Given the description of an element on the screen output the (x, y) to click on. 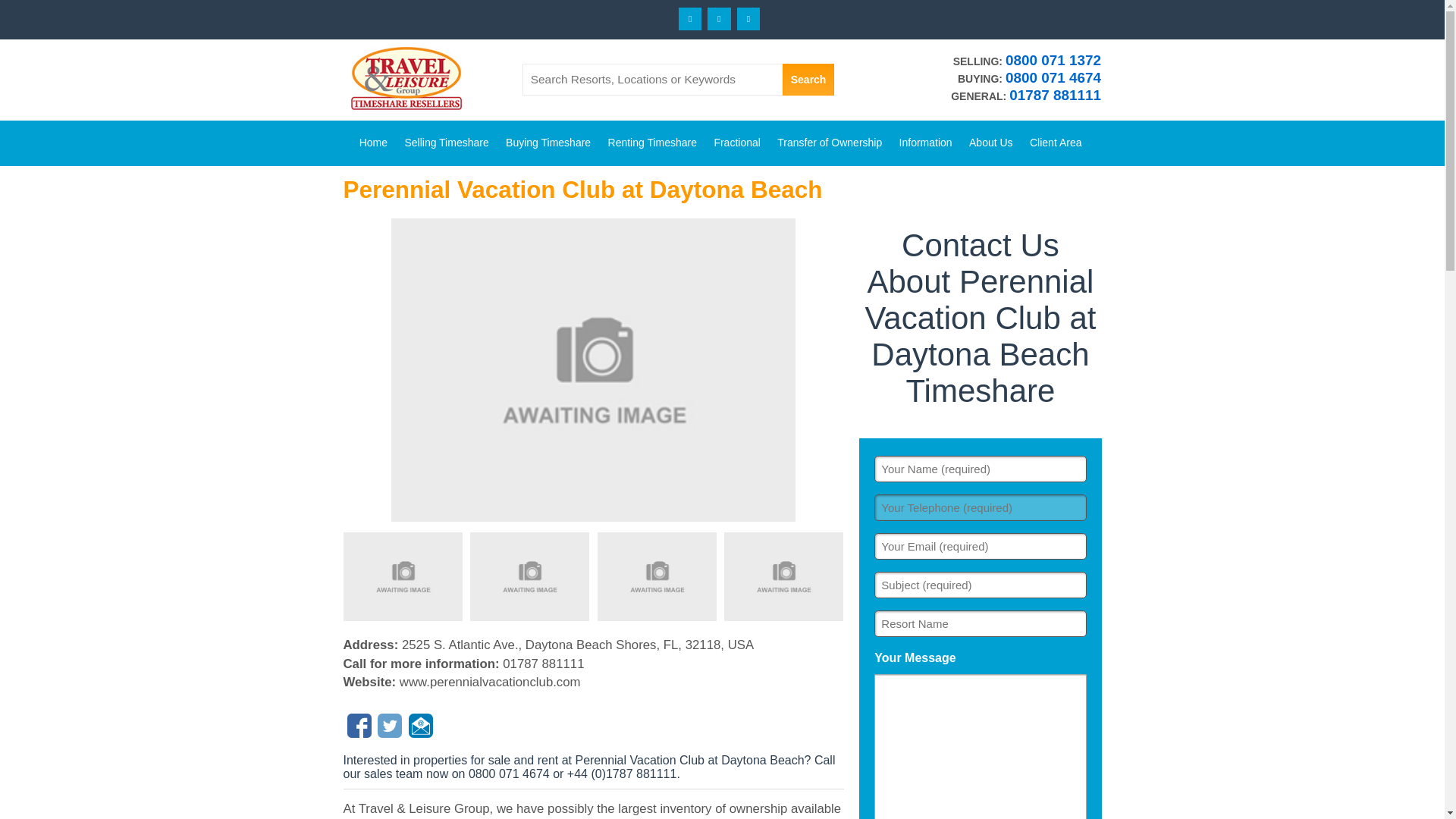
Resort Image (592, 369)
Click to enlarge (656, 576)
Selling Timeshare (446, 136)
Search (808, 79)
0800 071 4674 (1053, 77)
01787 881111 (1054, 94)
Search (808, 79)
Twitter (718, 18)
Click to enlarge (529, 576)
Instagram (748, 18)
